Given the description of an element on the screen output the (x, y) to click on. 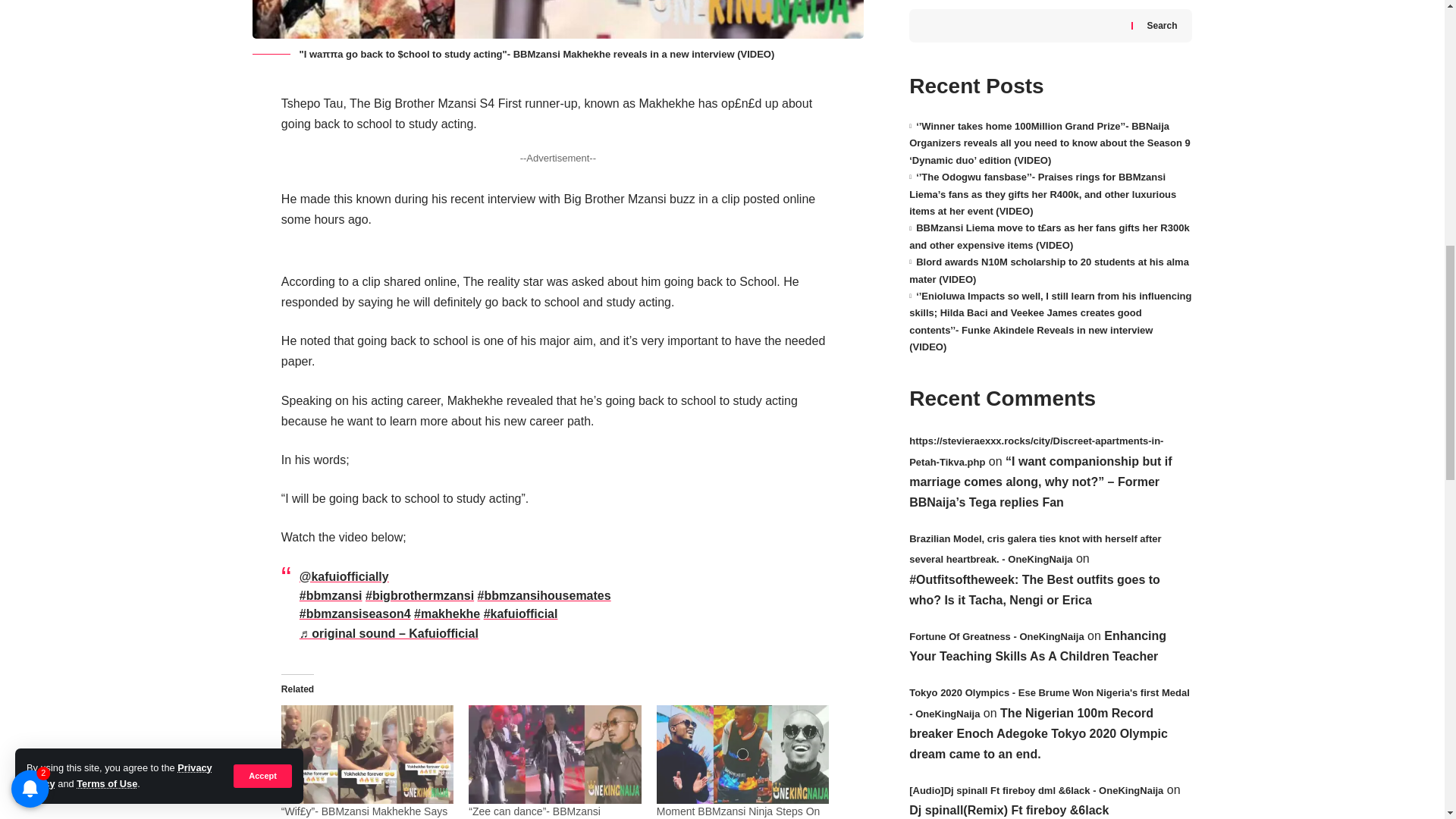
bbmzansi (330, 594)
bbmzansiseason4 (354, 613)
bigbrothermzansi (419, 594)
bbmzansihousemates (544, 594)
makhekhe (446, 613)
